Given the description of an element on the screen output the (x, y) to click on. 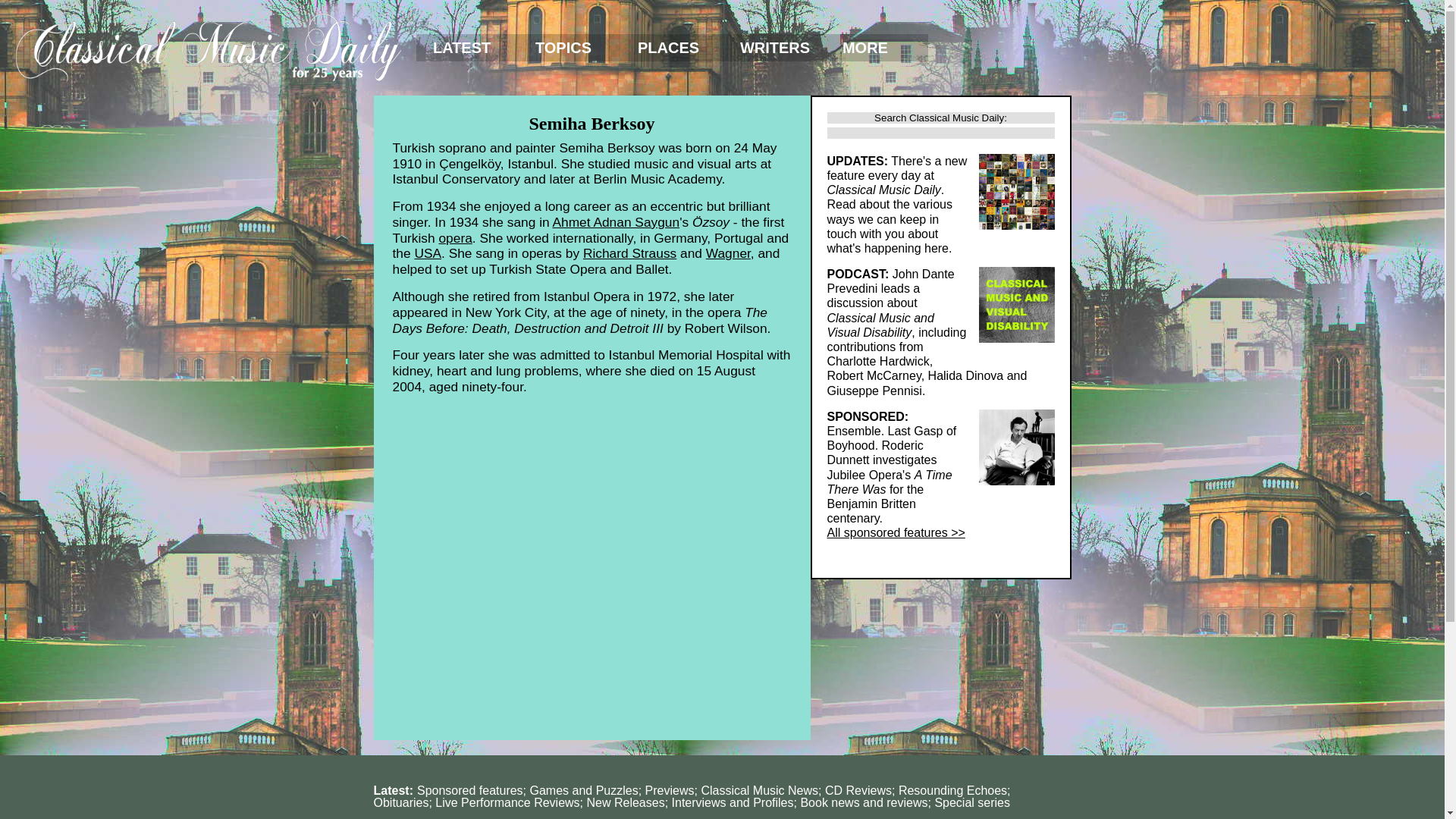
Classical Music and Visual Disability (1016, 304)
LATEST (467, 47)
Benjamin Britten in 1968 (1016, 447)
Classical Music Daily (207, 47)
PLACES (672, 47)
TOPICS (569, 47)
Search Classical Music Daily: (940, 117)
